Given the description of an element on the screen output the (x, y) to click on. 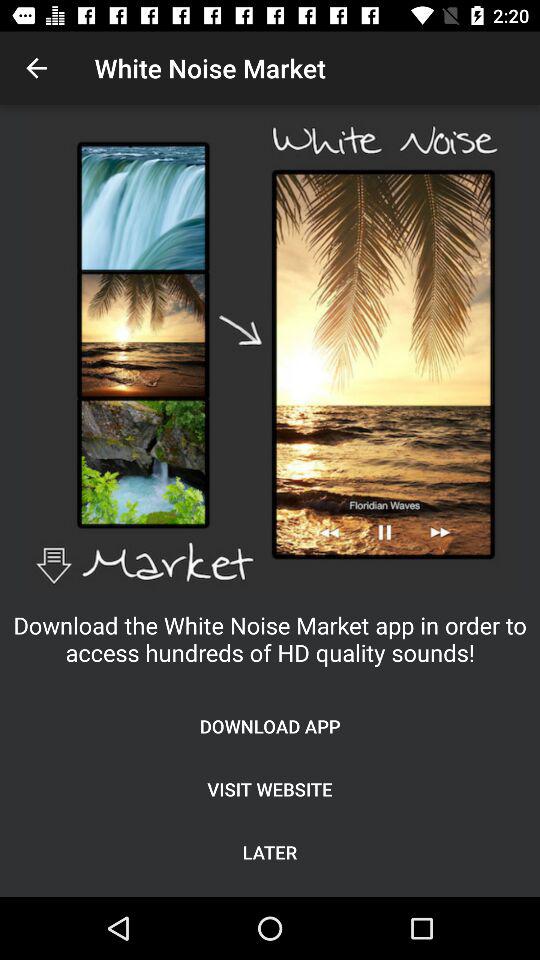
click icon to the left of the white noise market (36, 68)
